Given the description of an element on the screen output the (x, y) to click on. 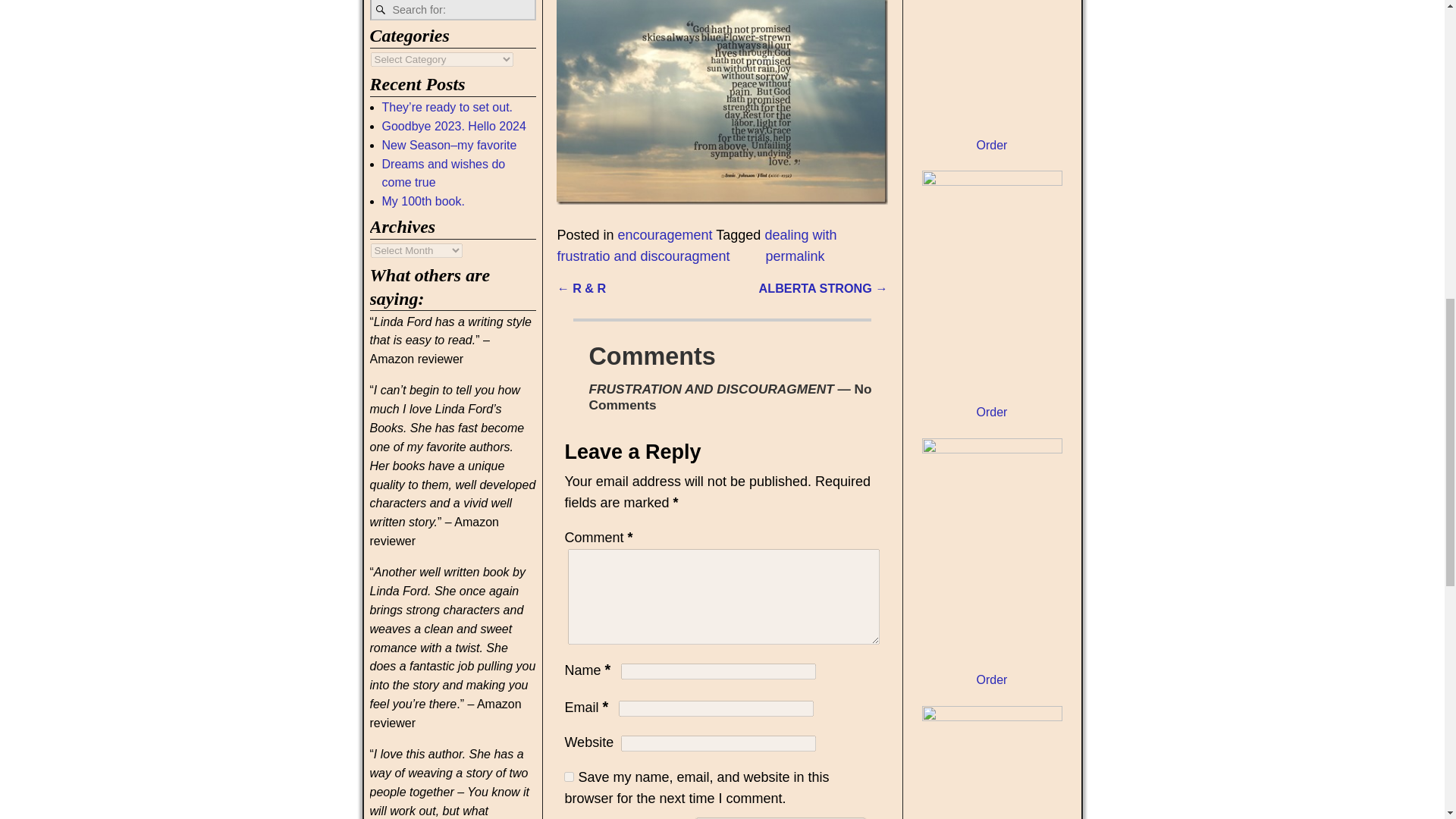
Order (991, 411)
Order (991, 679)
Order (991, 144)
yes (568, 777)
quotescover-JPG-85 (721, 102)
Dreams and wishes do come true (443, 173)
dealing with frustratio and discouragment (695, 245)
Permalink to FRUSTRATION AND DISCOURAGMENT (795, 255)
